Given the description of an element on the screen output the (x, y) to click on. 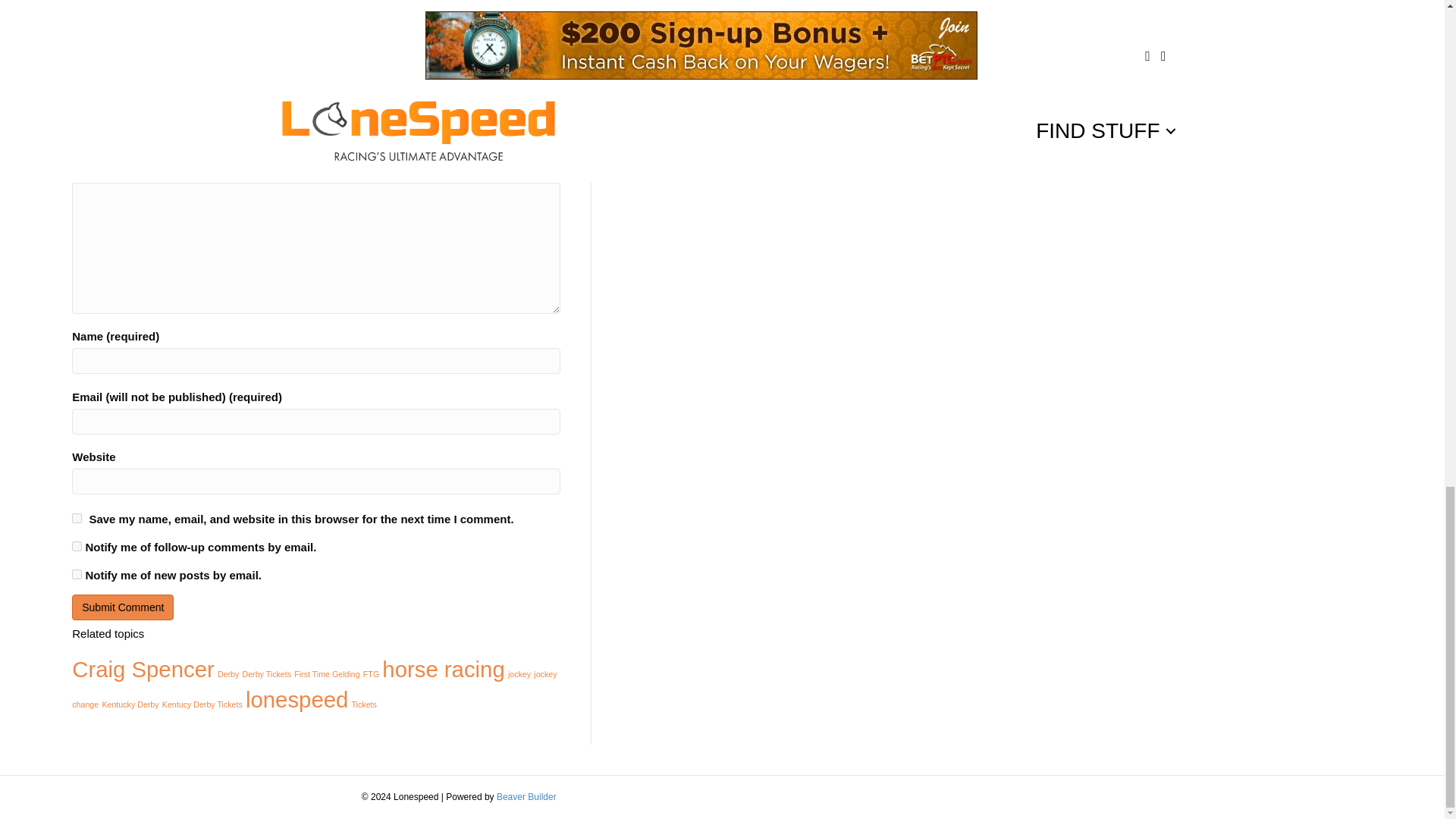
Craig Spencer (142, 668)
Kentucy Derby Tickets (202, 704)
Derby (227, 673)
Derby Tickets (267, 673)
jockey change (313, 689)
FTG (370, 673)
subscribe (76, 574)
Submit Comment (122, 606)
Kentucky Derby (129, 704)
Tickets (364, 704)
horse racing (442, 668)
WordPress Page Builder Plugin (526, 796)
lonespeed (296, 699)
yes (76, 518)
subscribe (76, 546)
